Given the description of an element on the screen output the (x, y) to click on. 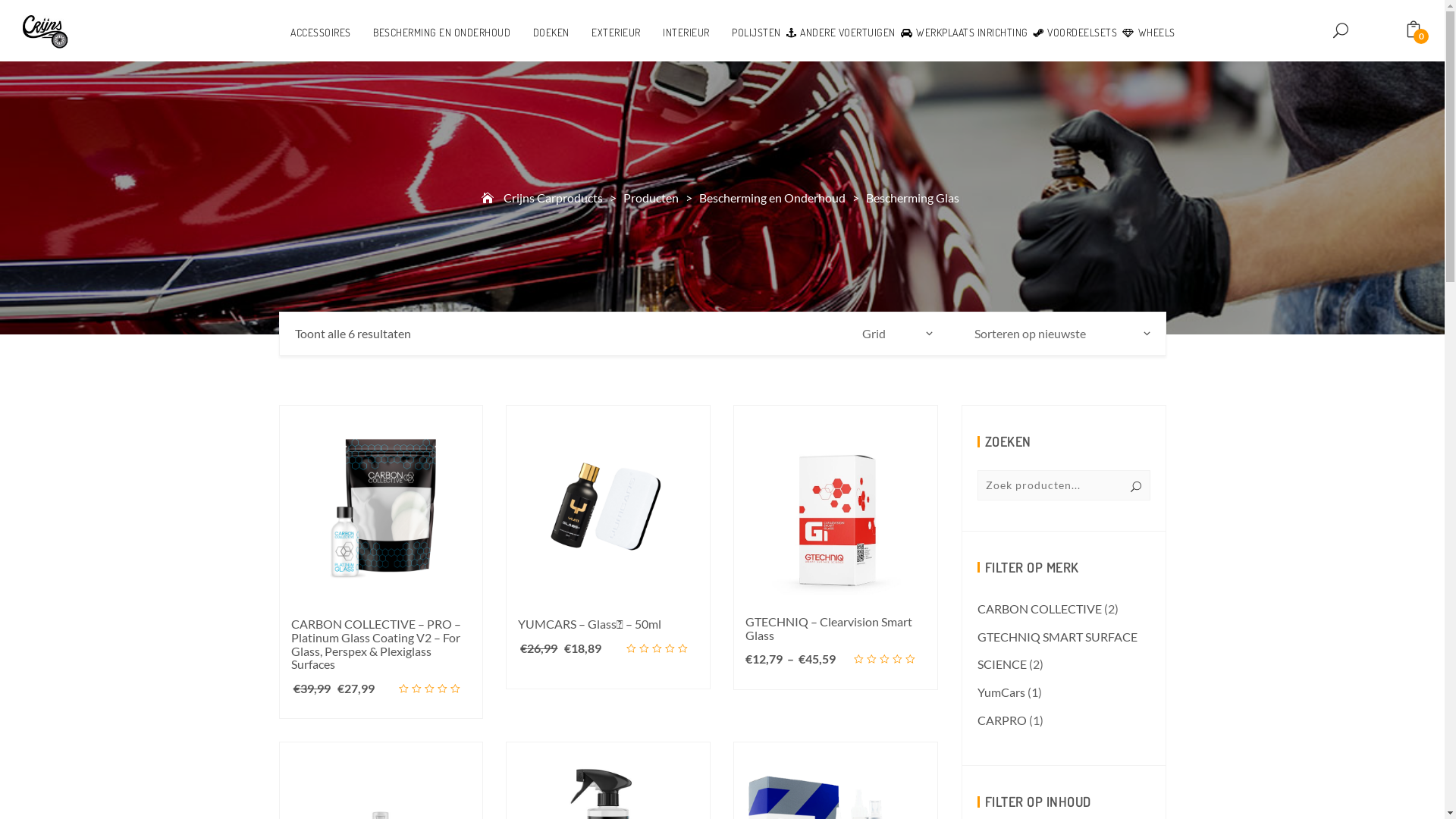
WHEELS Element type: text (1146, 32)
Producten Element type: text (650, 197)
Rated 0 out of 5 Element type: hover (889, 658)
CARPRO Element type: text (1001, 720)
0 Element type: text (1403, 30)
INTERIEUR Element type: text (675, 32)
Rated 0 out of 5 Element type: hover (434, 688)
ANDERE VOERTUIGEN Element type: text (838, 32)
GTECHNIQ SMART SURFACE SCIENCE Element type: text (1056, 649)
Rated 0 out of 5 Element type: hover (662, 647)
BESCHERMING EN ONDERHOUD Element type: text (430, 32)
CARBON COLLECTIVE Element type: text (1038, 608)
WERKPLAATS INRICHTING Element type: text (961, 32)
Zoeken Element type: text (86, 15)
EXTERIEUR Element type: text (605, 32)
ACCESSOIRES Element type: text (310, 32)
DOEKEN Element type: text (540, 32)
Crijns Carproducts Element type: text (552, 197)
POLIJSTEN Element type: text (746, 32)
VOORDEELSETS Element type: text (1073, 32)
Bescherming en Onderhoud Element type: text (771, 197)
YumCars Element type: text (1000, 691)
Search for: Element type: hover (1062, 485)
